Given the description of an element on the screen output the (x, y) to click on. 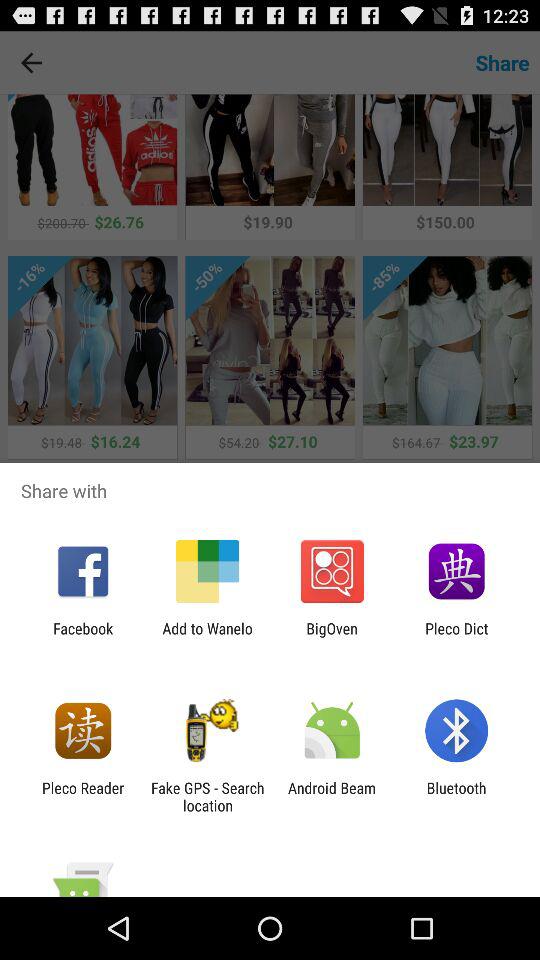
launch item next to add to wanelo app (83, 637)
